Given the description of an element on the screen output the (x, y) to click on. 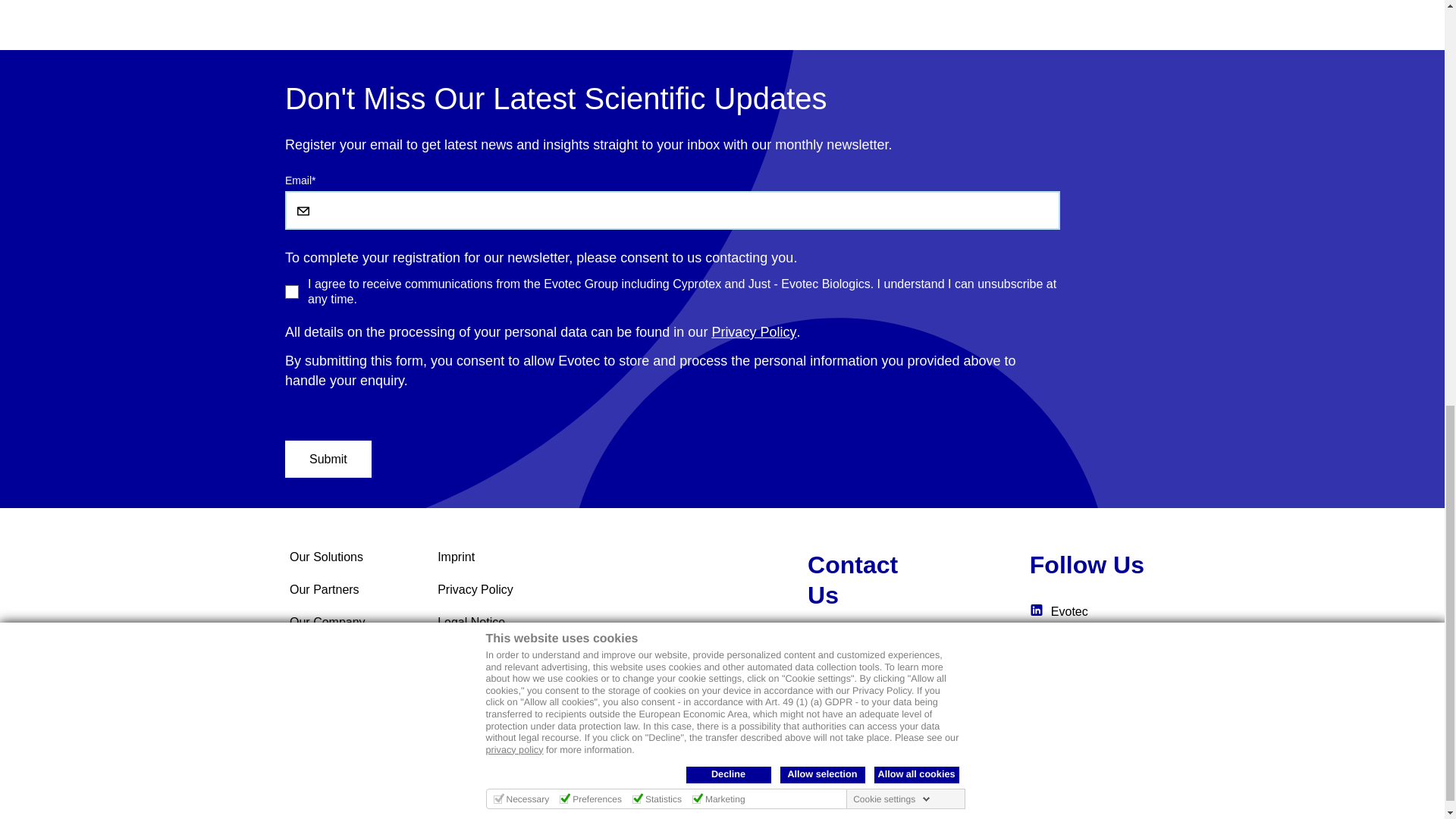
Submit (328, 458)
